Given the description of an element on the screen output the (x, y) to click on. 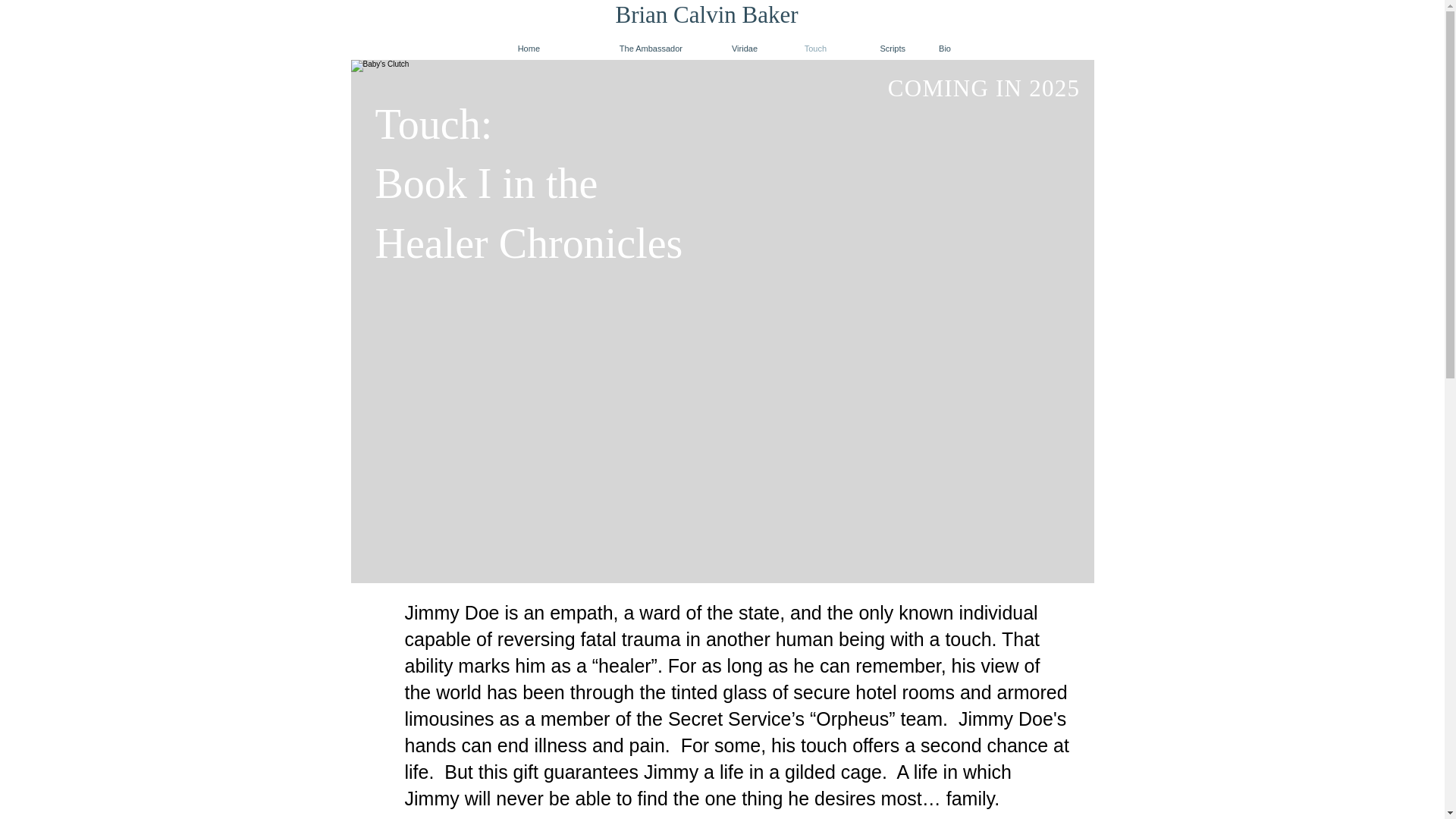
Touch (803, 48)
Home (521, 48)
Scripts (877, 48)
Bio (939, 48)
Viridae (731, 48)
Brian Calvin Baker (706, 14)
The Ambassador (622, 48)
